Given the description of an element on the screen output the (x, y) to click on. 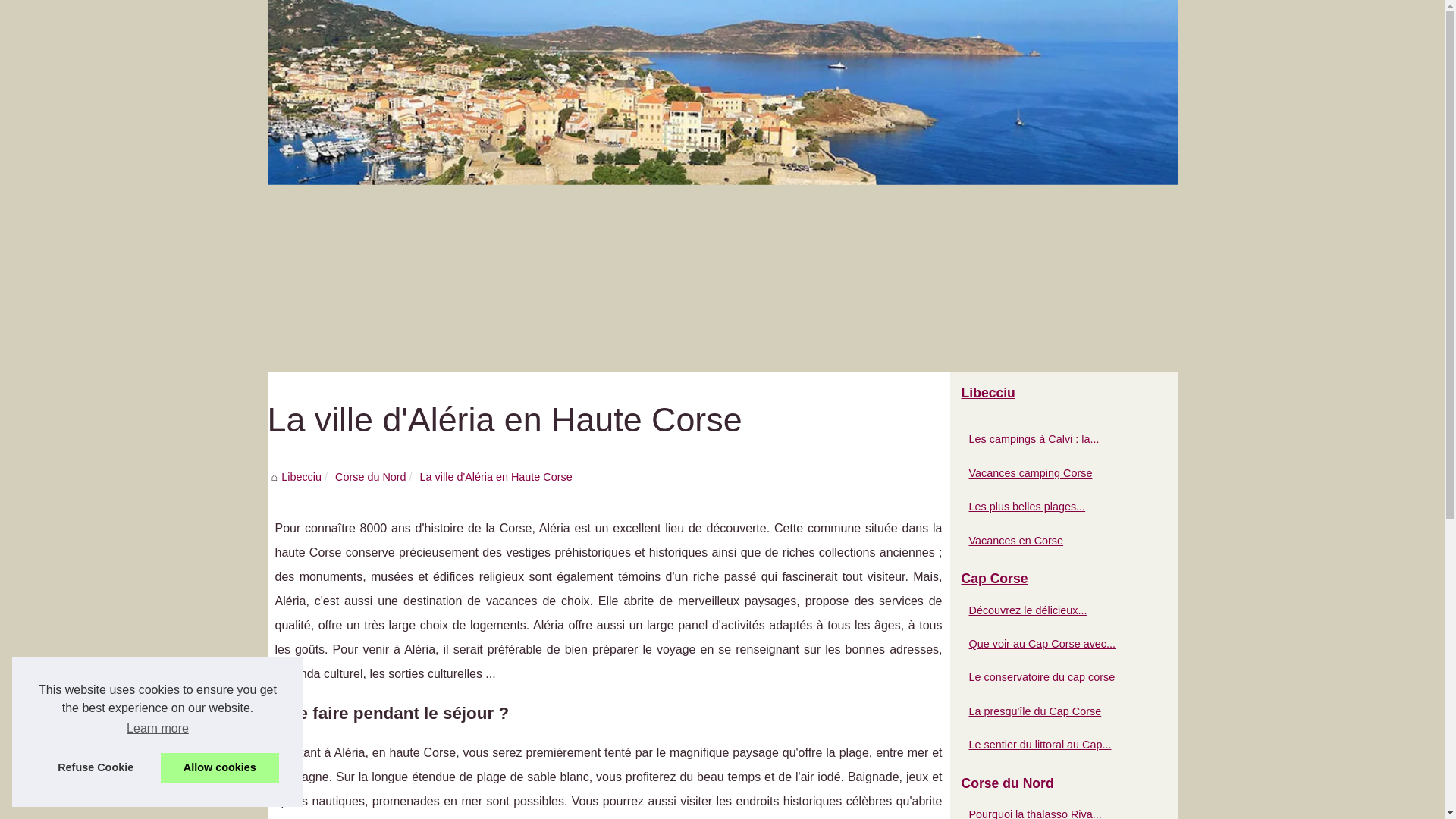
Que voir au Cap Corse avec... Element type: text (1055, 643)
Allow cookies Element type: text (219, 767)
Refuse Cookie Element type: text (95, 767)
Libecciu Element type: text (301, 476)
Corse du Nord Element type: text (370, 476)
Le sentier du littoral au Cap... Element type: text (1055, 744)
Libecciu Element type: hover (721, 185)
Corse du Nord Element type: text (1063, 783)
Les plus belles plages... Element type: text (1055, 506)
Vacances camping Corse Element type: text (1055, 473)
Vacances en Corse Element type: text (1055, 540)
Cap Corse Element type: text (1063, 578)
Learn more Element type: text (157, 728)
Le conservatoire du cap corse Element type: text (1055, 677)
Libecciu Element type: text (1063, 393)
